Given the description of an element on the screen output the (x, y) to click on. 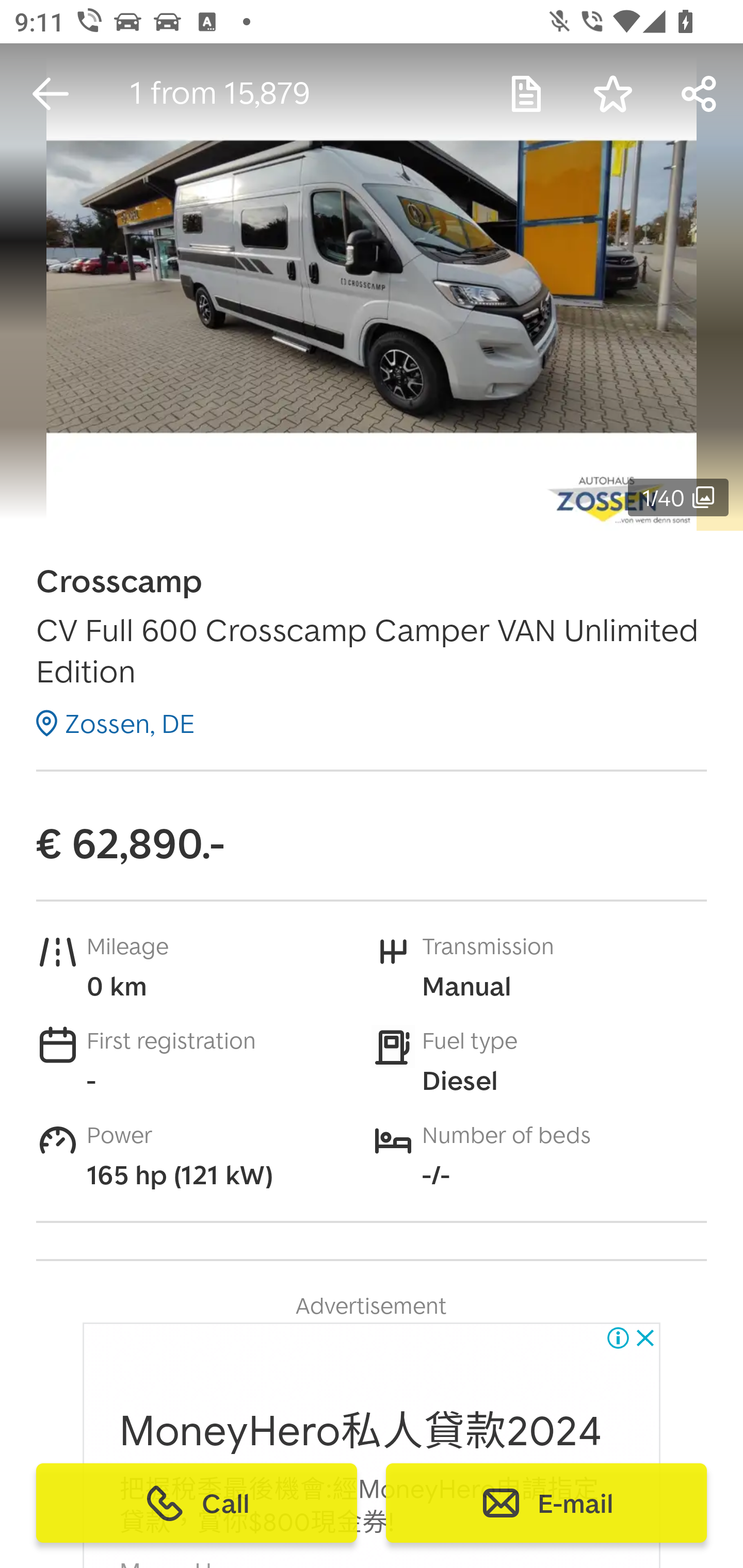
Navigate up (50, 93)
My Notes (525, 93)
Save (612, 93)
Forward (699, 93)
Zossen, DE (115, 722)
MoneyHero私人貸款2024 (361, 1431)
Call (196, 1502)
E-mail (545, 1502)
